Given the description of an element on the screen output the (x, y) to click on. 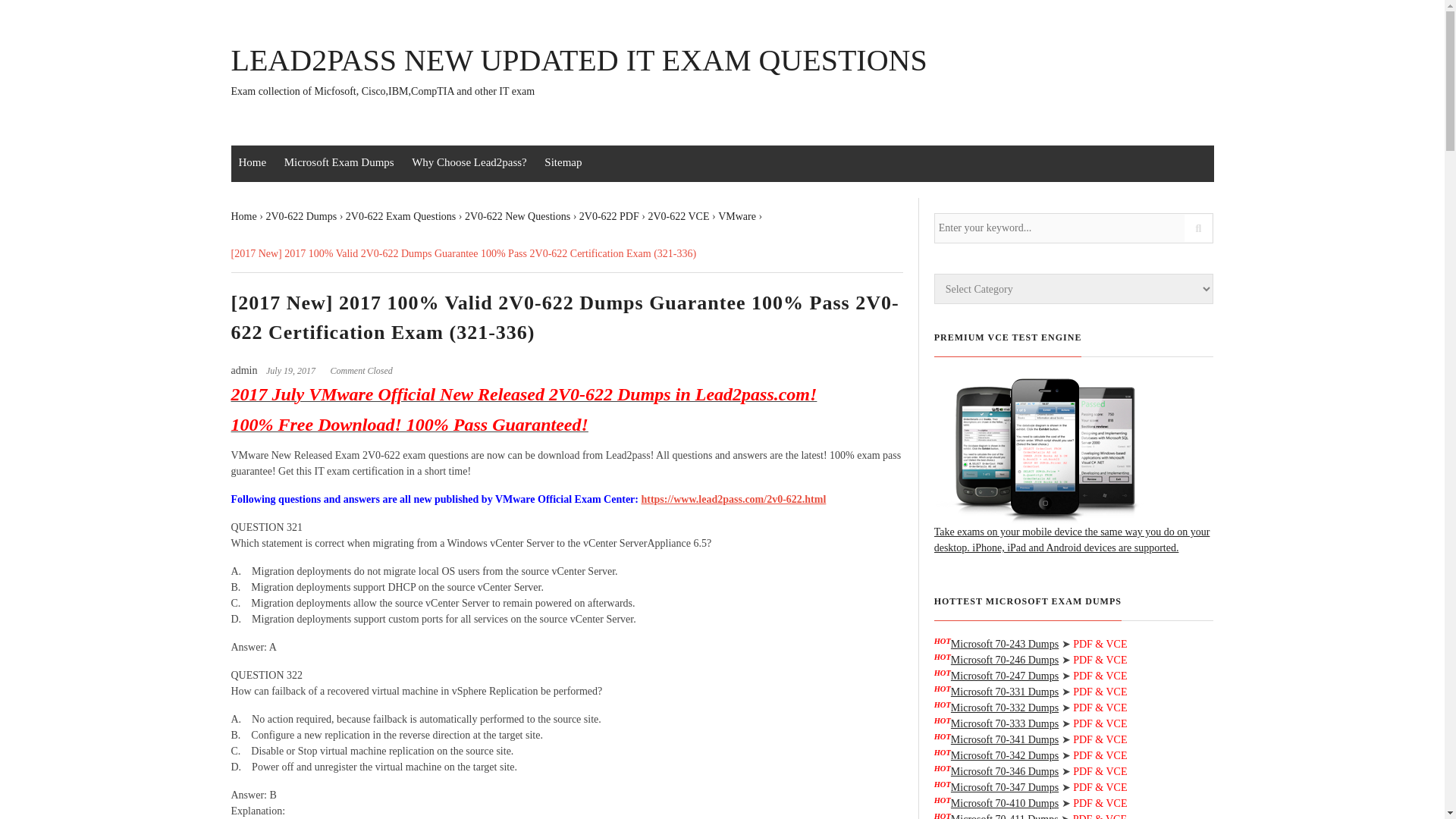
2V0-622 VCE (678, 215)
Home (251, 162)
2V0-622 Dumps (300, 215)
Why Choose Lead2pass? (469, 162)
Home (243, 215)
Microsoft Exam Dumps (338, 162)
2V0-622 New Questions (517, 215)
2V0-622 PDF (609, 215)
Sitemap (563, 162)
2V0-622 Exam Questions (400, 215)
VMware (736, 215)
Lead2pass New Updated IT Exam Questions (578, 72)
